Given the description of an element on the screen output the (x, y) to click on. 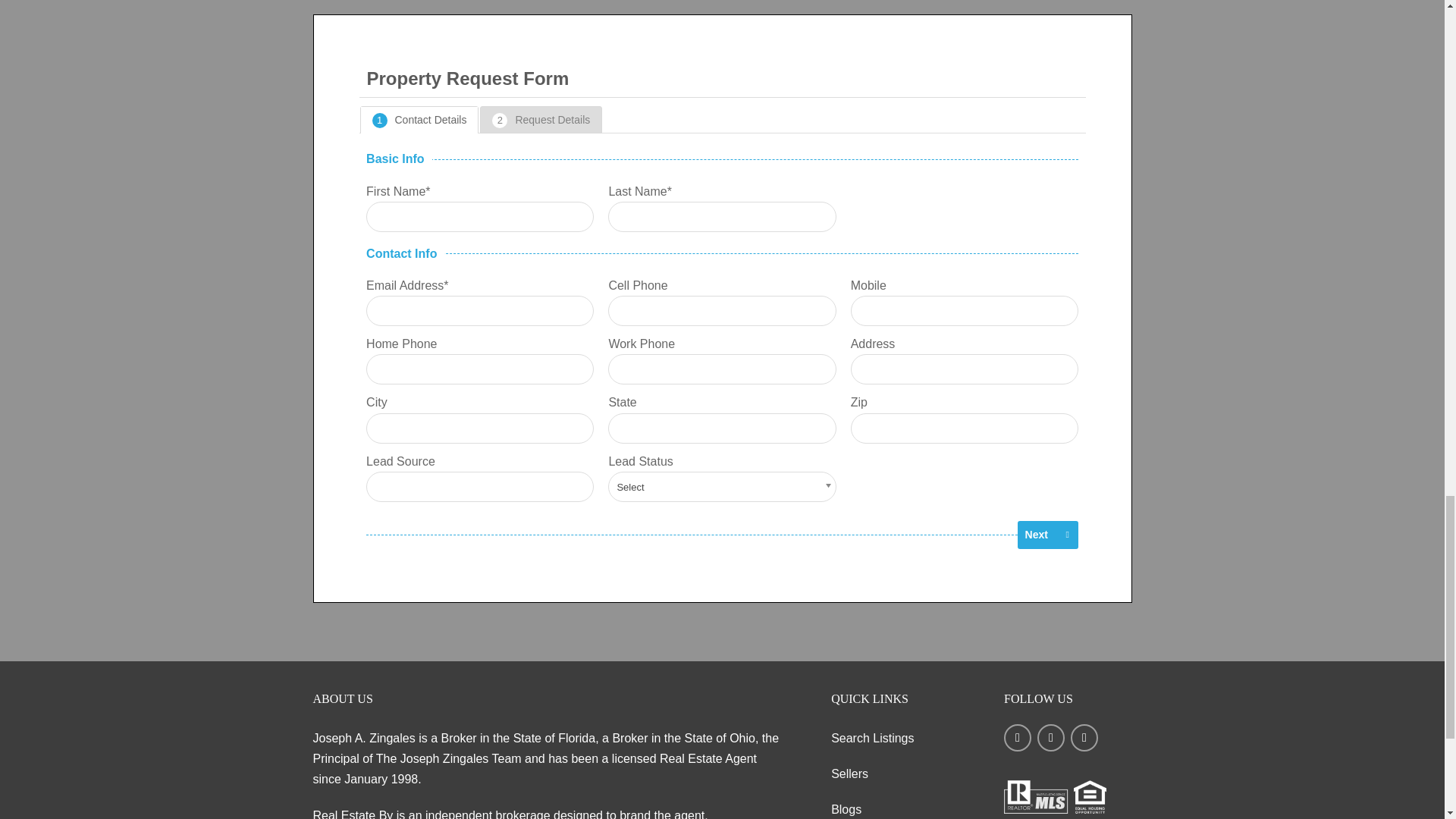
FOLLOW US (1067, 747)
